Given the description of an element on the screen output the (x, y) to click on. 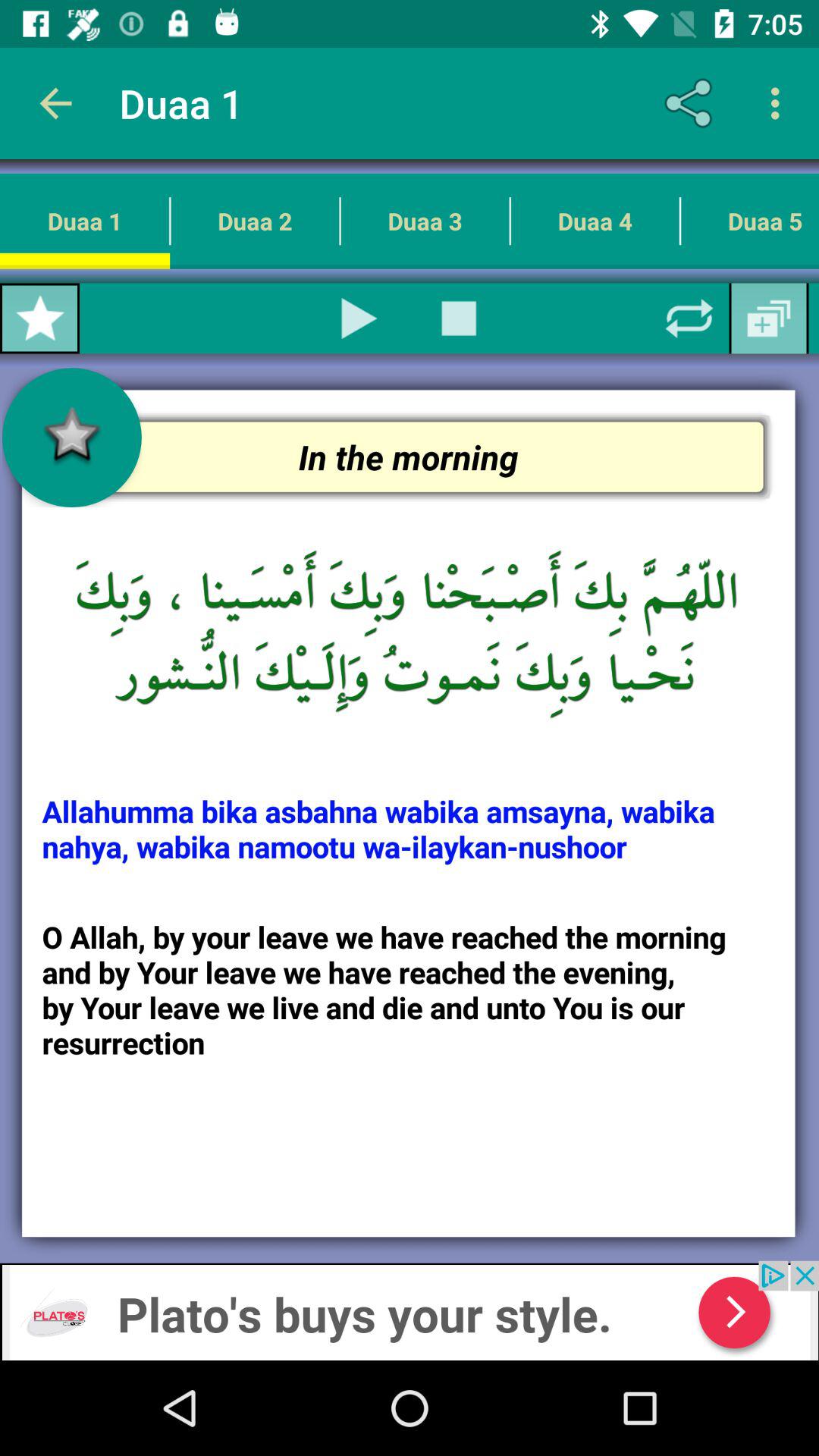
turn off the icon next to the duaa 1 (255, 221)
